Given the description of an element on the screen output the (x, y) to click on. 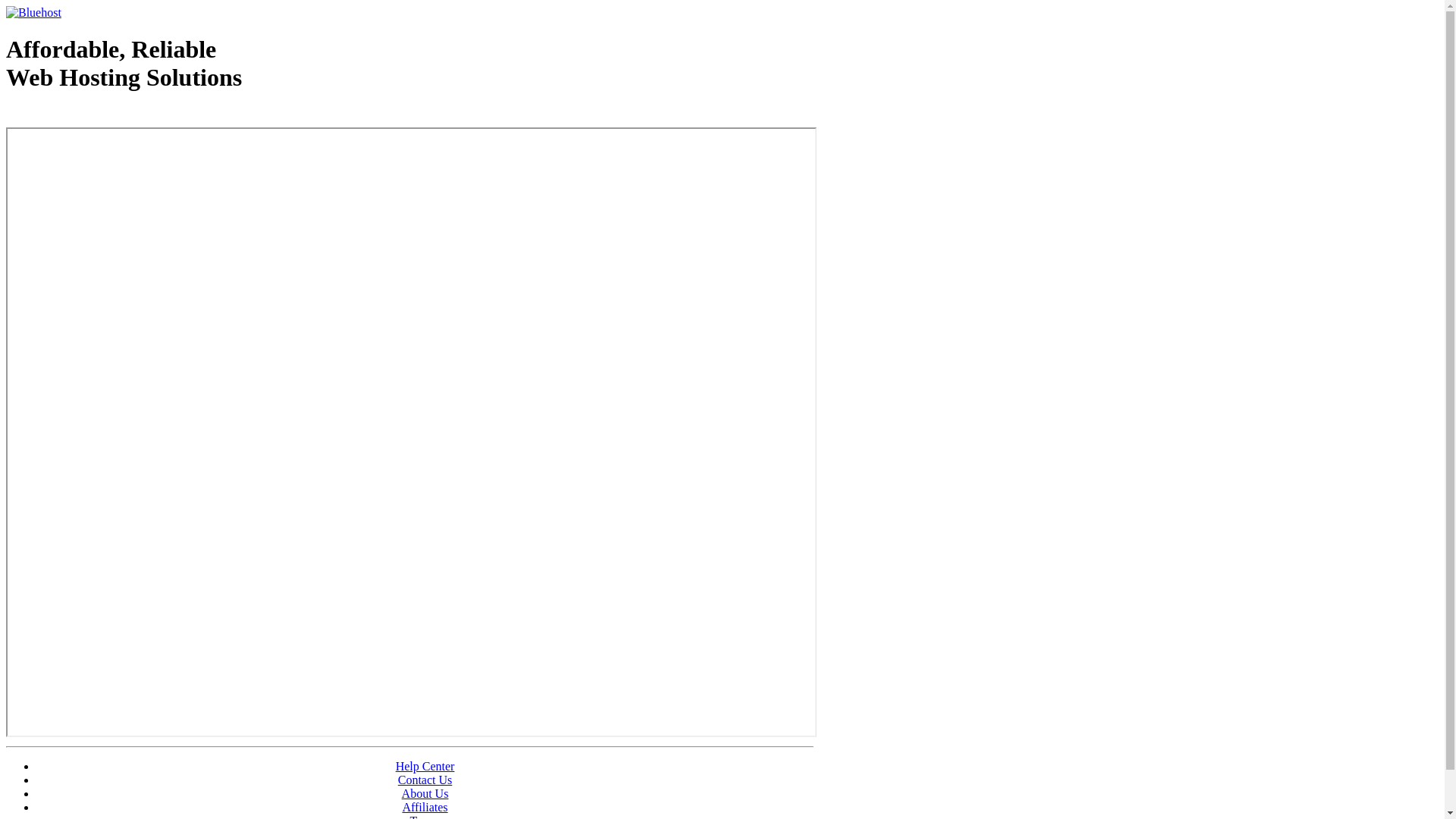
Web Hosting - courtesy of www.bluehost.com Element type: text (94, 115)
Help Center Element type: text (425, 765)
Affiliates Element type: text (424, 806)
Contact Us Element type: text (425, 779)
About Us Element type: text (424, 793)
